Given the description of an element on the screen output the (x, y) to click on. 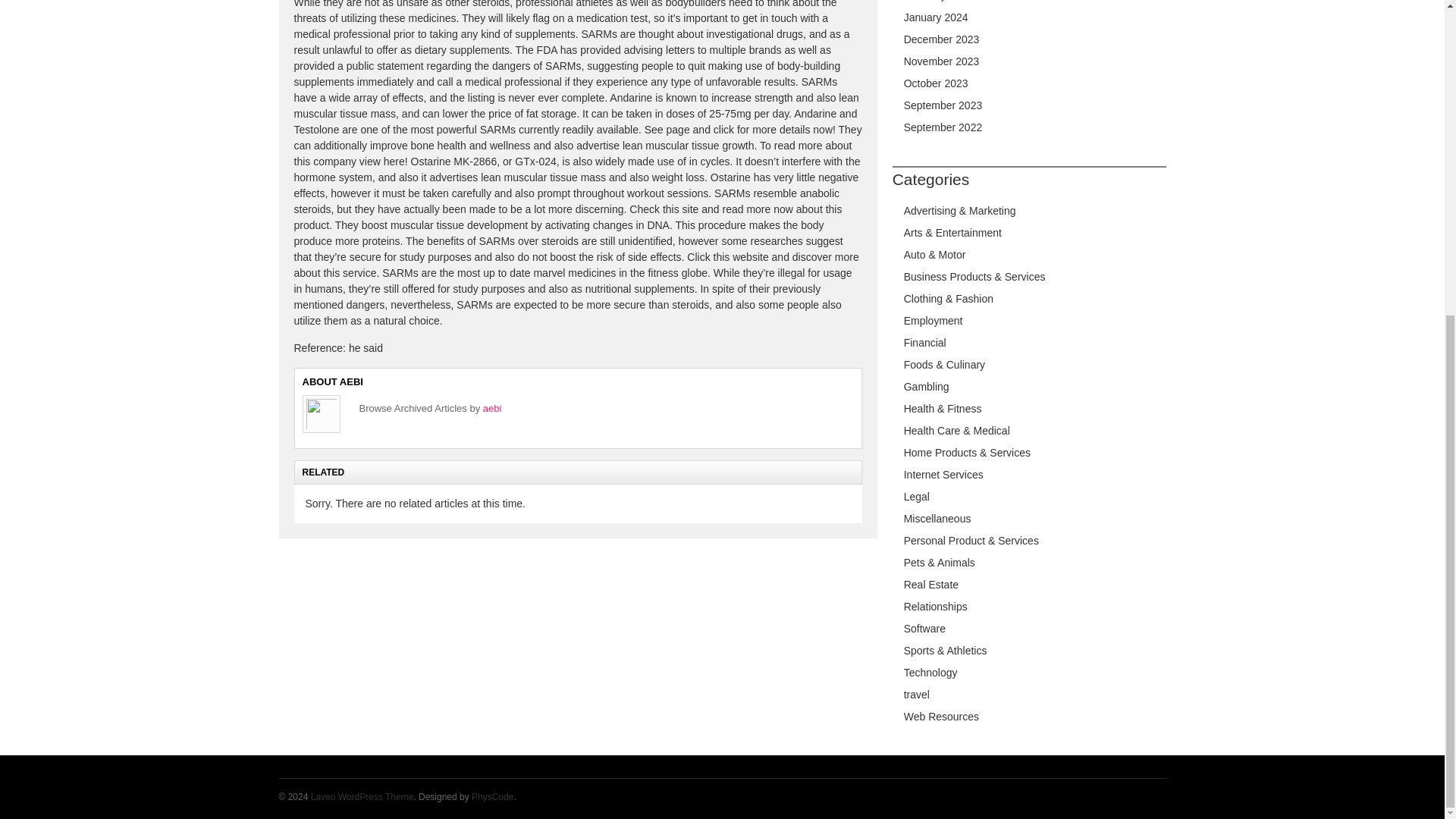
Gambling (926, 386)
Employment (933, 320)
September 2023 (943, 105)
November 2023 (941, 61)
January 2024 (936, 17)
February 2024 (938, 0)
aebi (492, 408)
Internet Services (944, 474)
he said (365, 347)
October 2023 (936, 82)
September 2022 (943, 127)
December 2023 (941, 39)
Financial (925, 342)
this product (568, 216)
page (678, 129)
